Given the description of an element on the screen output the (x, y) to click on. 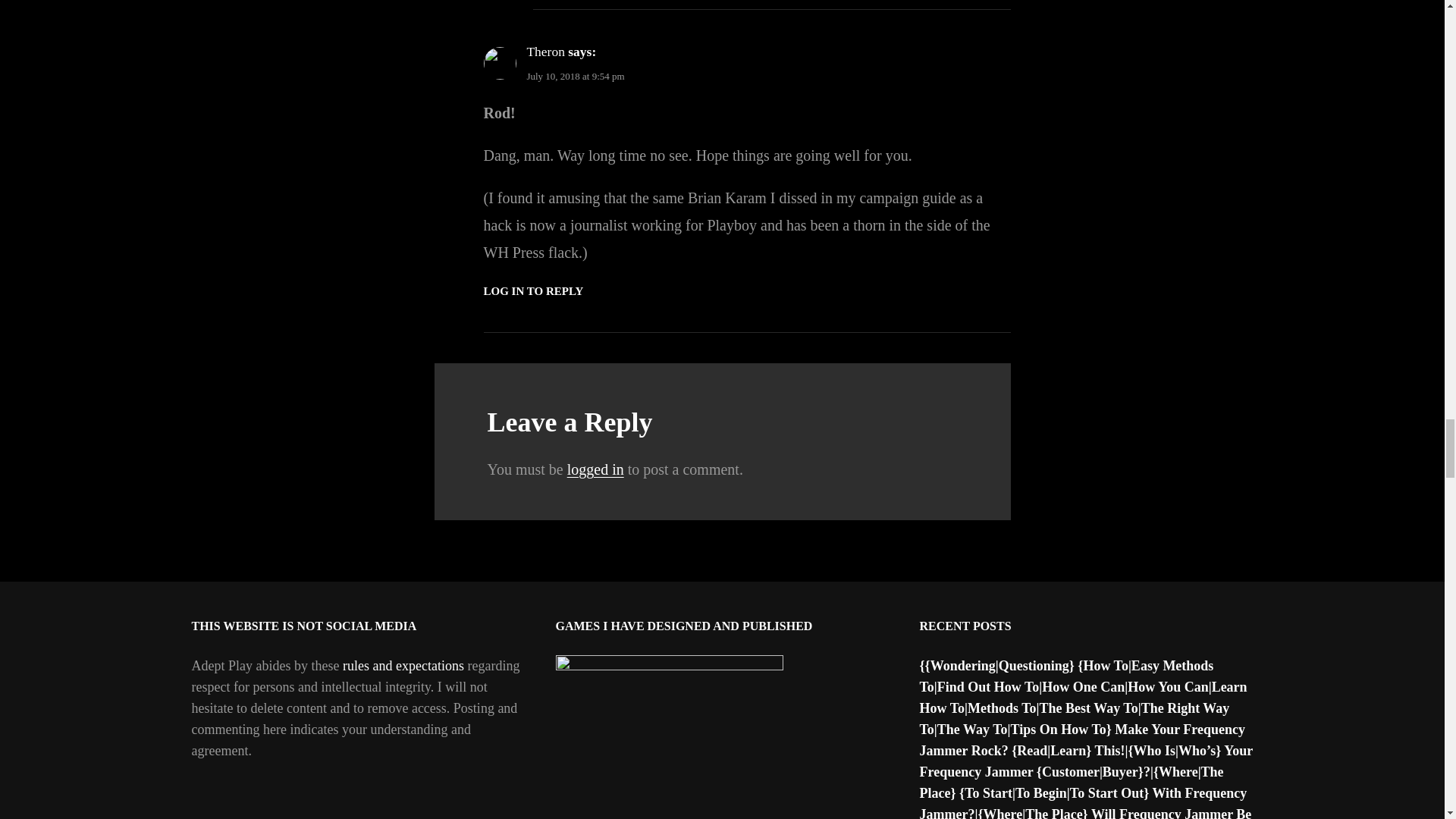
LOG IN TO REPLY (533, 291)
rules and expectations (403, 665)
July 10, 2018 at 9:54 pm (574, 75)
logged in (595, 469)
